Given the description of an element on the screen output the (x, y) to click on. 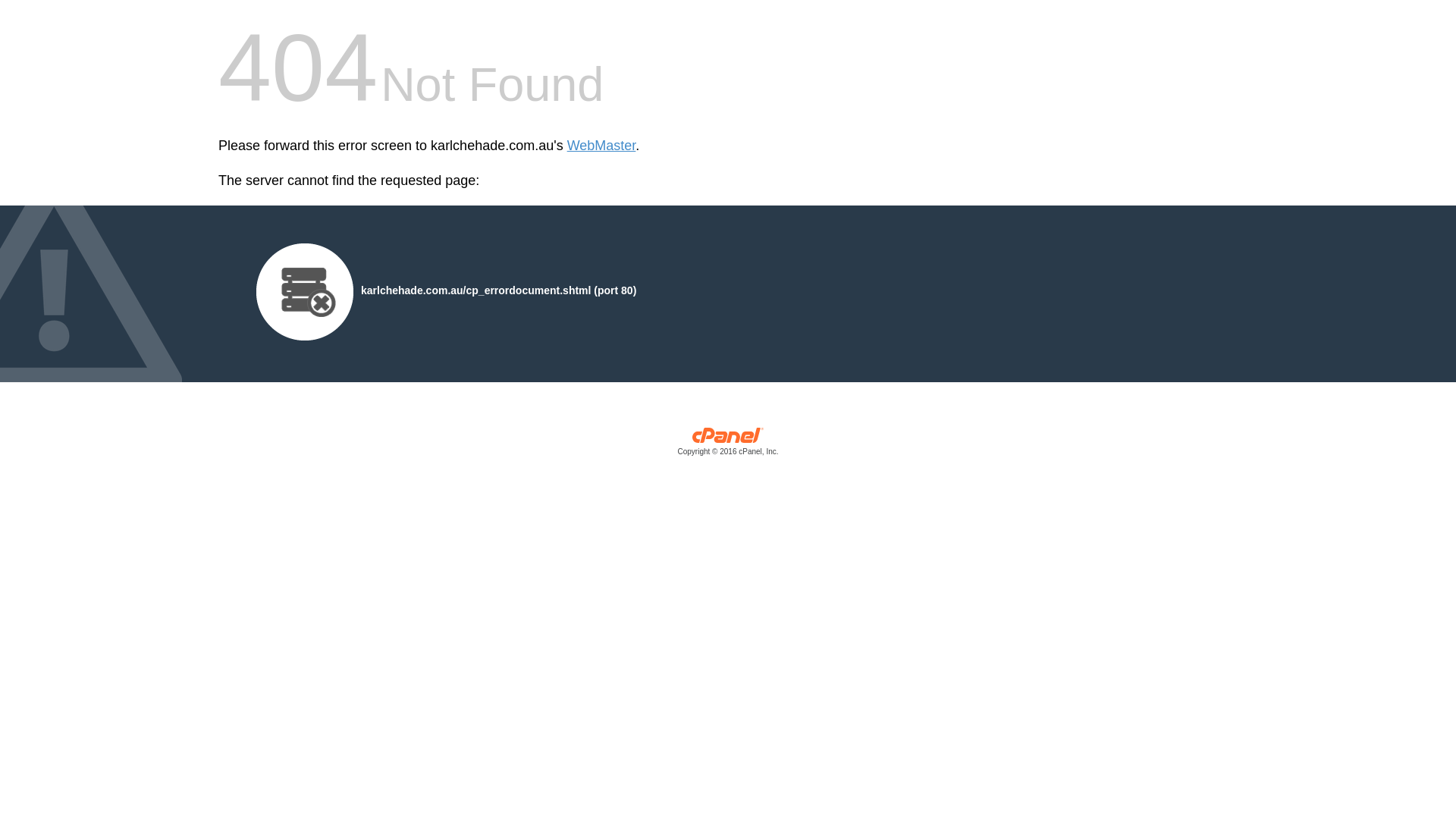
WebMaster Element type: text (601, 145)
